Given the description of an element on the screen output the (x, y) to click on. 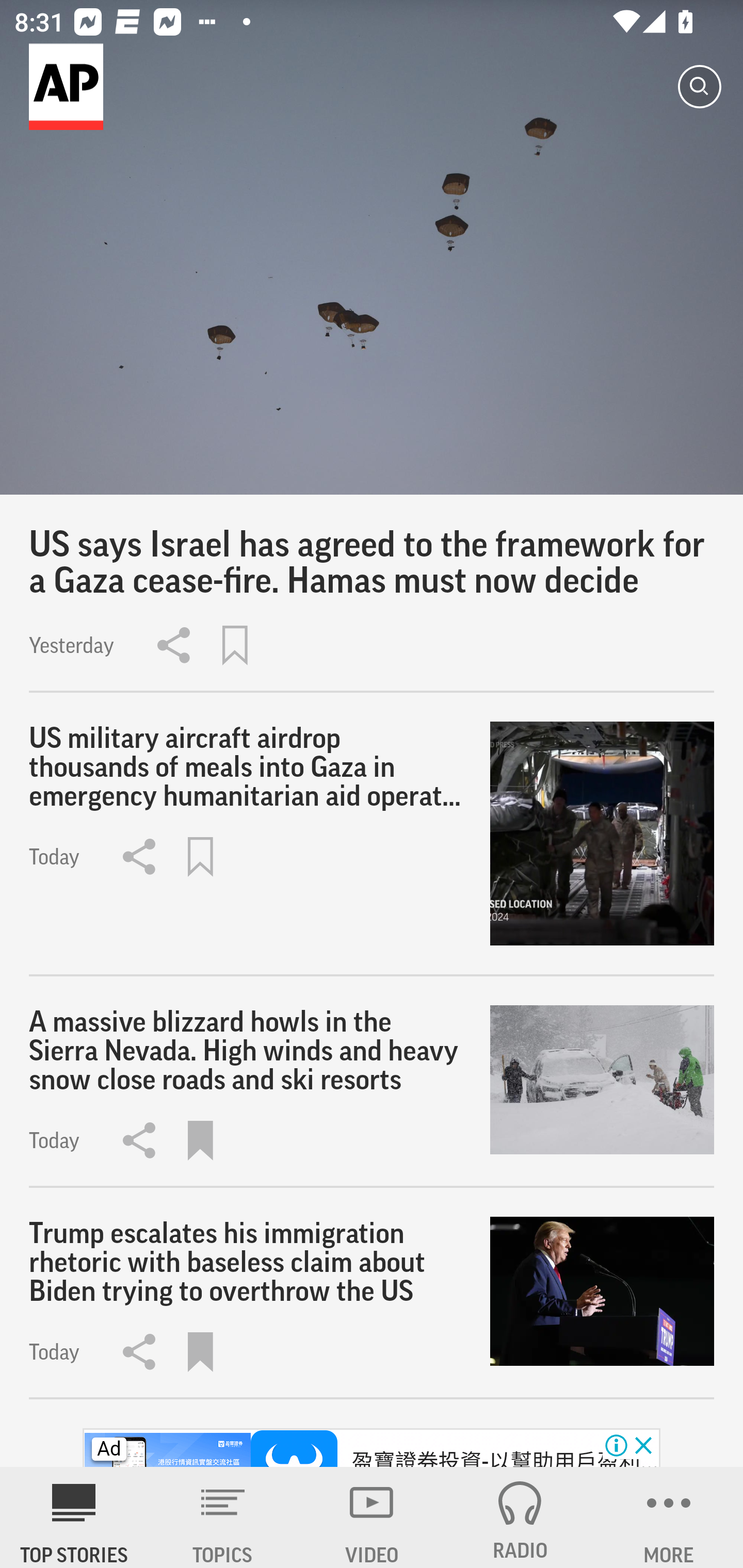
AP News TOP STORIES (74, 1517)
TOPICS (222, 1517)
VIDEO (371, 1517)
RADIO (519, 1517)
MORE (668, 1517)
